Given the description of an element on the screen output the (x, y) to click on. 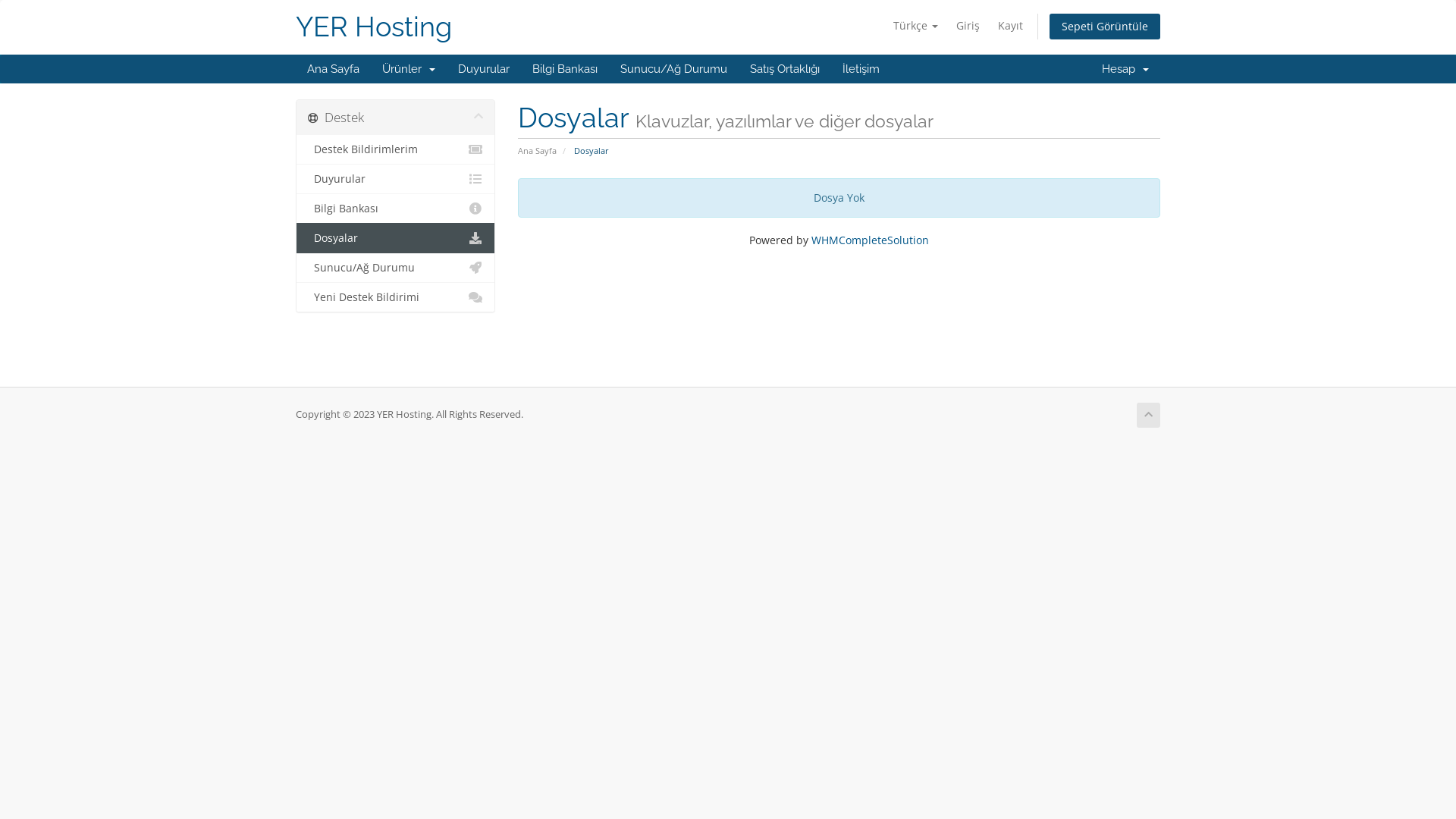
WHMCompleteSolution Element type: text (869, 239)
  Duyurular Element type: text (395, 178)
Ana Sayfa Element type: text (536, 150)
  Destek Bildirimlerim Element type: text (395, 149)
Hesap   Element type: text (1125, 68)
  Yeni Destek Bildirimi Element type: text (395, 296)
Ana Sayfa Element type: text (332, 68)
Duyurular Element type: text (483, 68)
YER Hosting Element type: text (373, 26)
  Dosyalar Element type: text (395, 237)
